Given the description of an element on the screen output the (x, y) to click on. 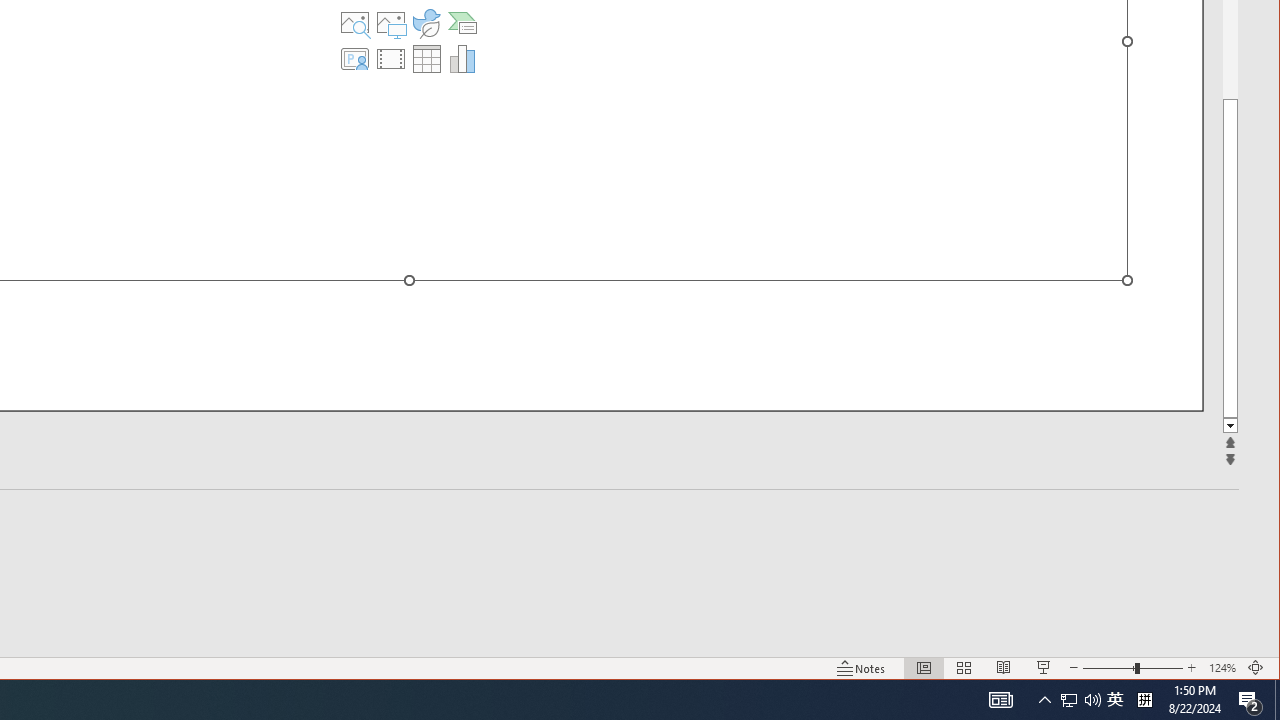
Zoom 124% (1222, 668)
Stock Images (355, 22)
Insert Video (391, 58)
Insert an Icon (426, 22)
Insert Table (426, 58)
